Given the description of an element on the screen output the (x, y) to click on. 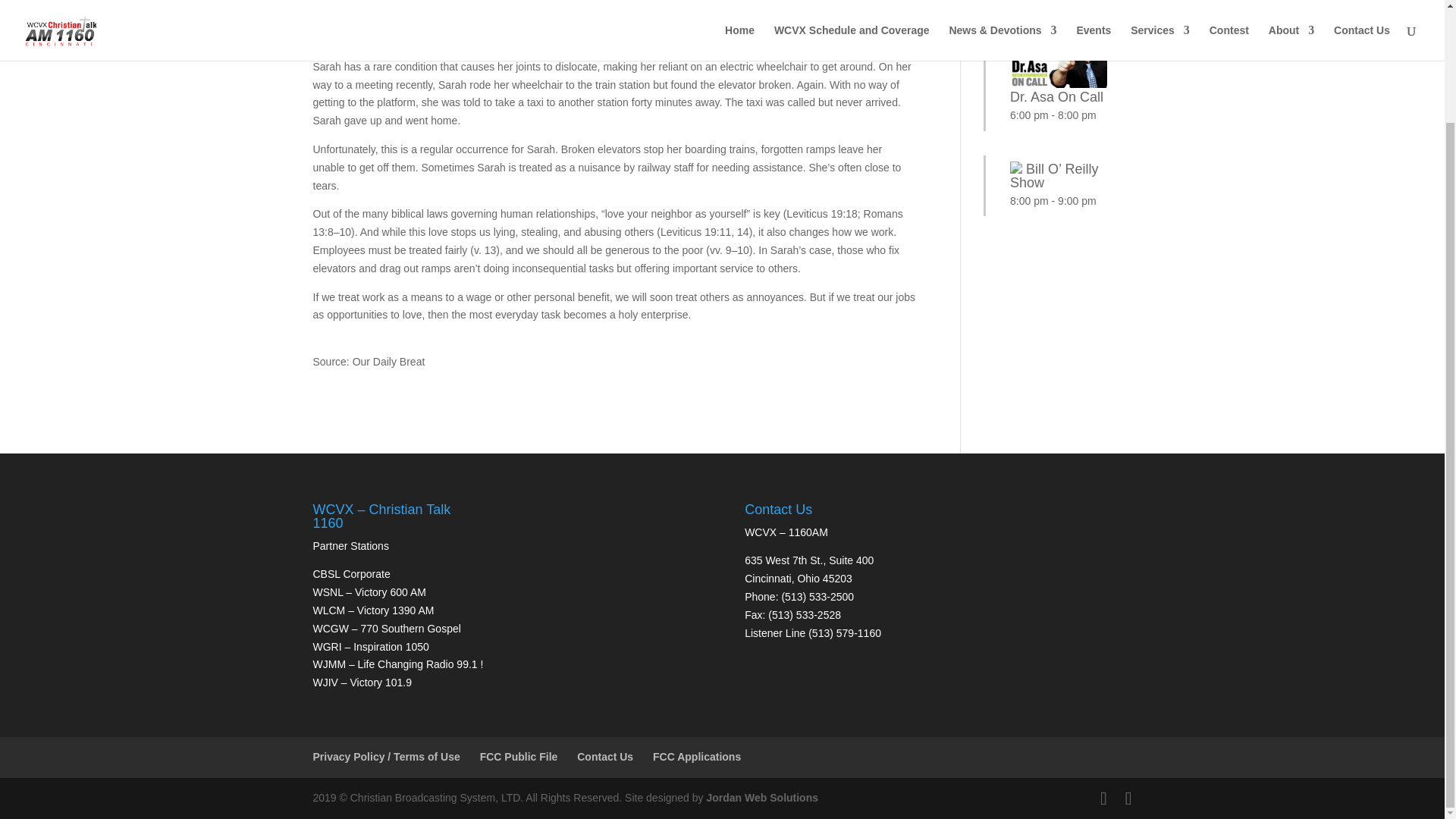
Dr. Asa On Call (1058, 90)
Contact Us (604, 756)
FCC Public File (518, 756)
Devotional (408, 9)
Dr. Asa On Call (1058, 90)
CBSL Corporate (351, 573)
